Given the description of an element on the screen output the (x, y) to click on. 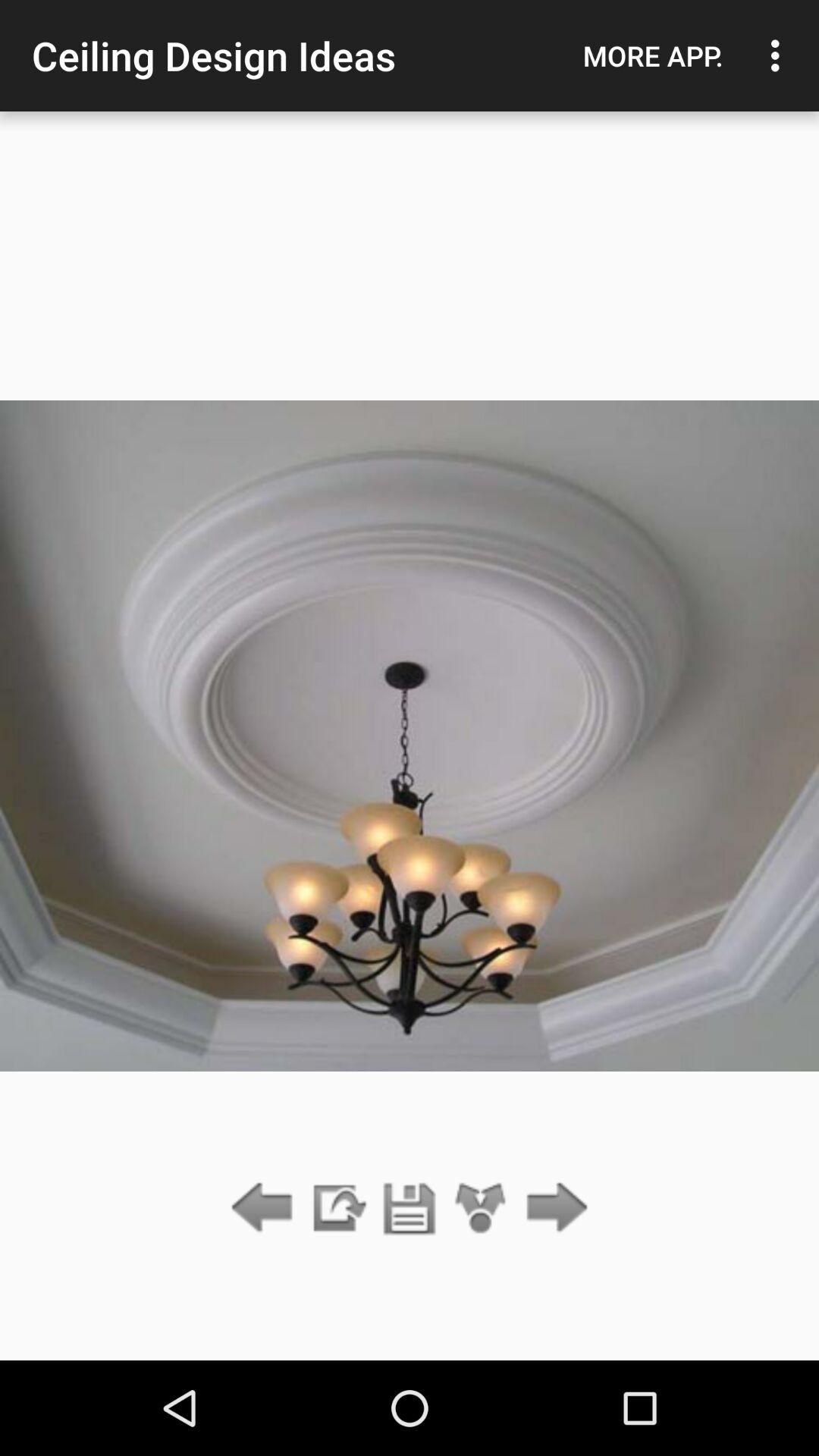
press icon next to the more app. (779, 55)
